Given the description of an element on the screen output the (x, y) to click on. 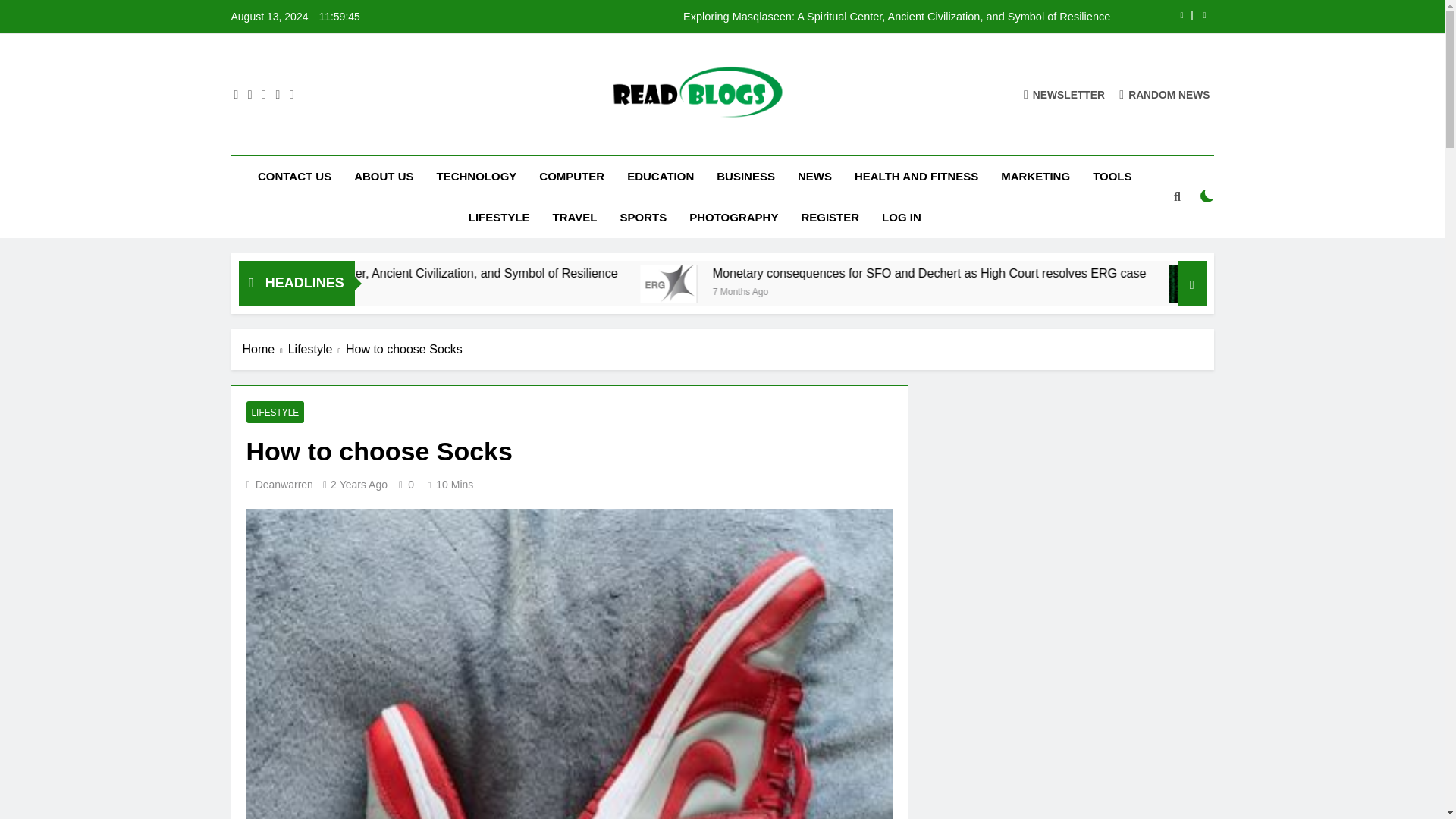
CONTACT US (294, 176)
Read-Blogs (514, 141)
ABOUT US (383, 176)
HEALTH AND FITNESS (916, 176)
MARKETING (1035, 176)
EDUCATION (659, 176)
LOG IN (901, 217)
NEWS (814, 176)
TECHNOLOGY (476, 176)
SPORTS (643, 217)
